Given the description of an element on the screen output the (x, y) to click on. 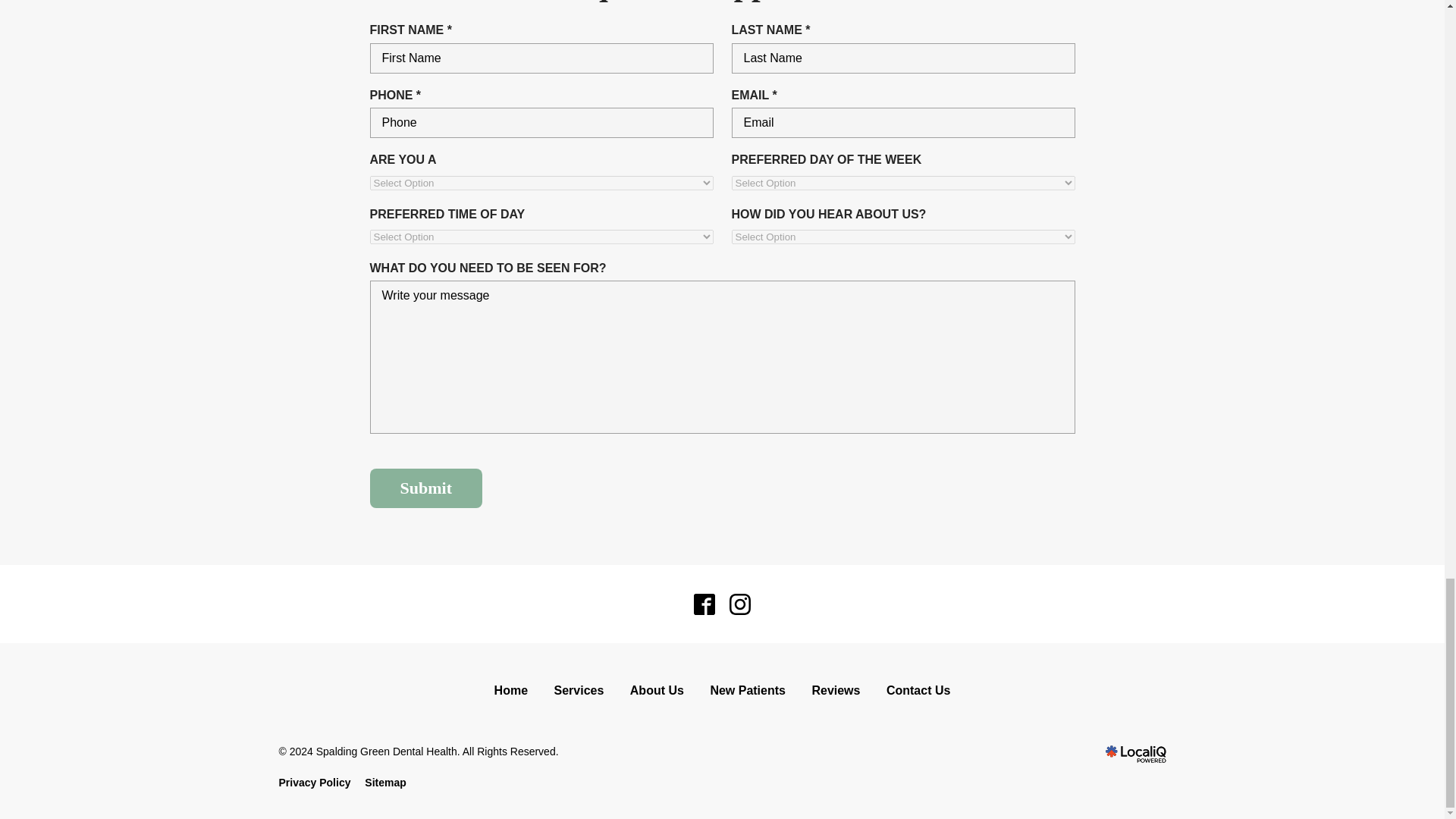
Submit (425, 487)
facebook (703, 603)
instagram (740, 603)
